Given the description of an element on the screen output the (x, y) to click on. 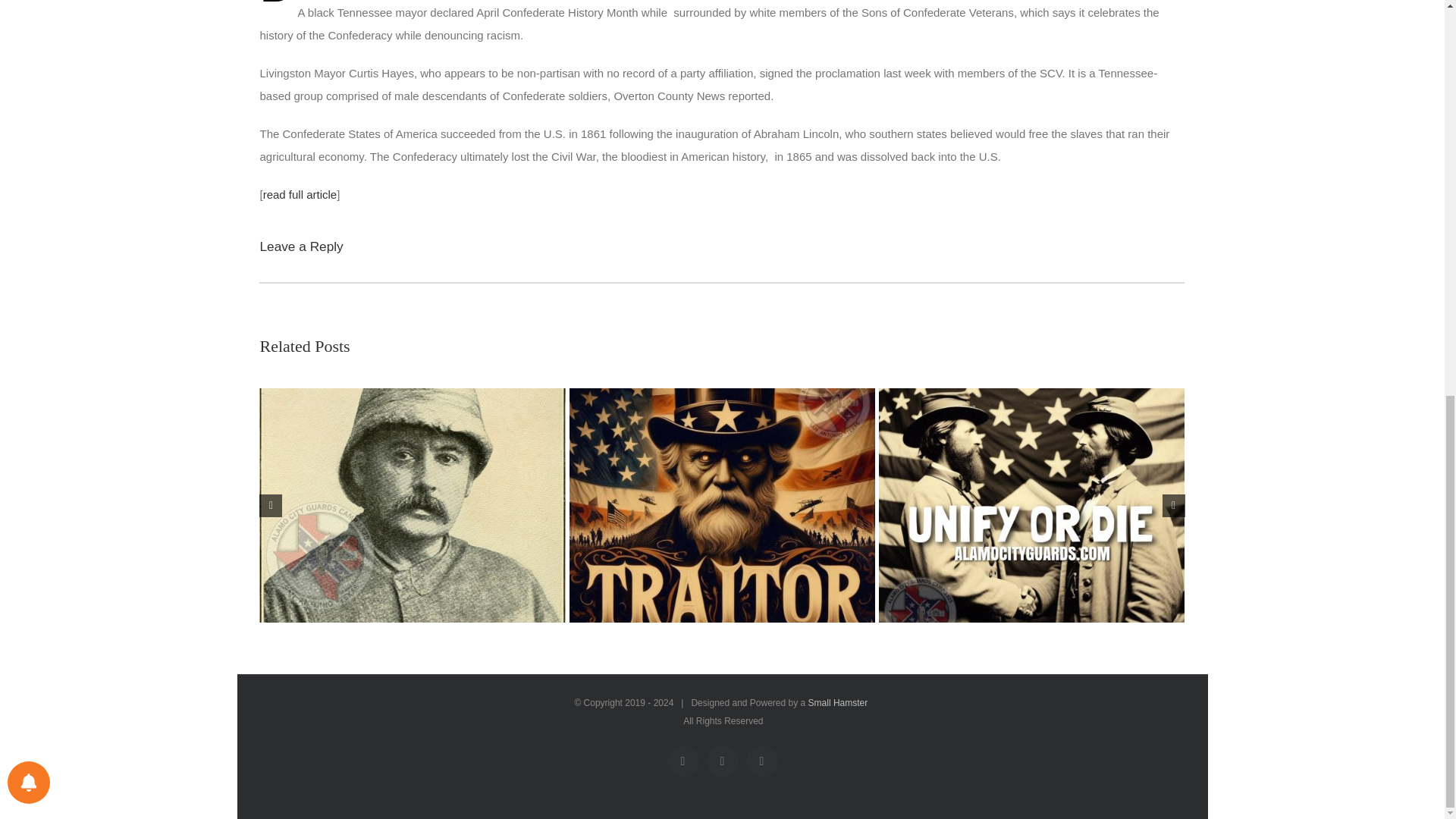
Notifications preferences (28, 19)
read full article (300, 194)
